Given the description of an element on the screen output the (x, y) to click on. 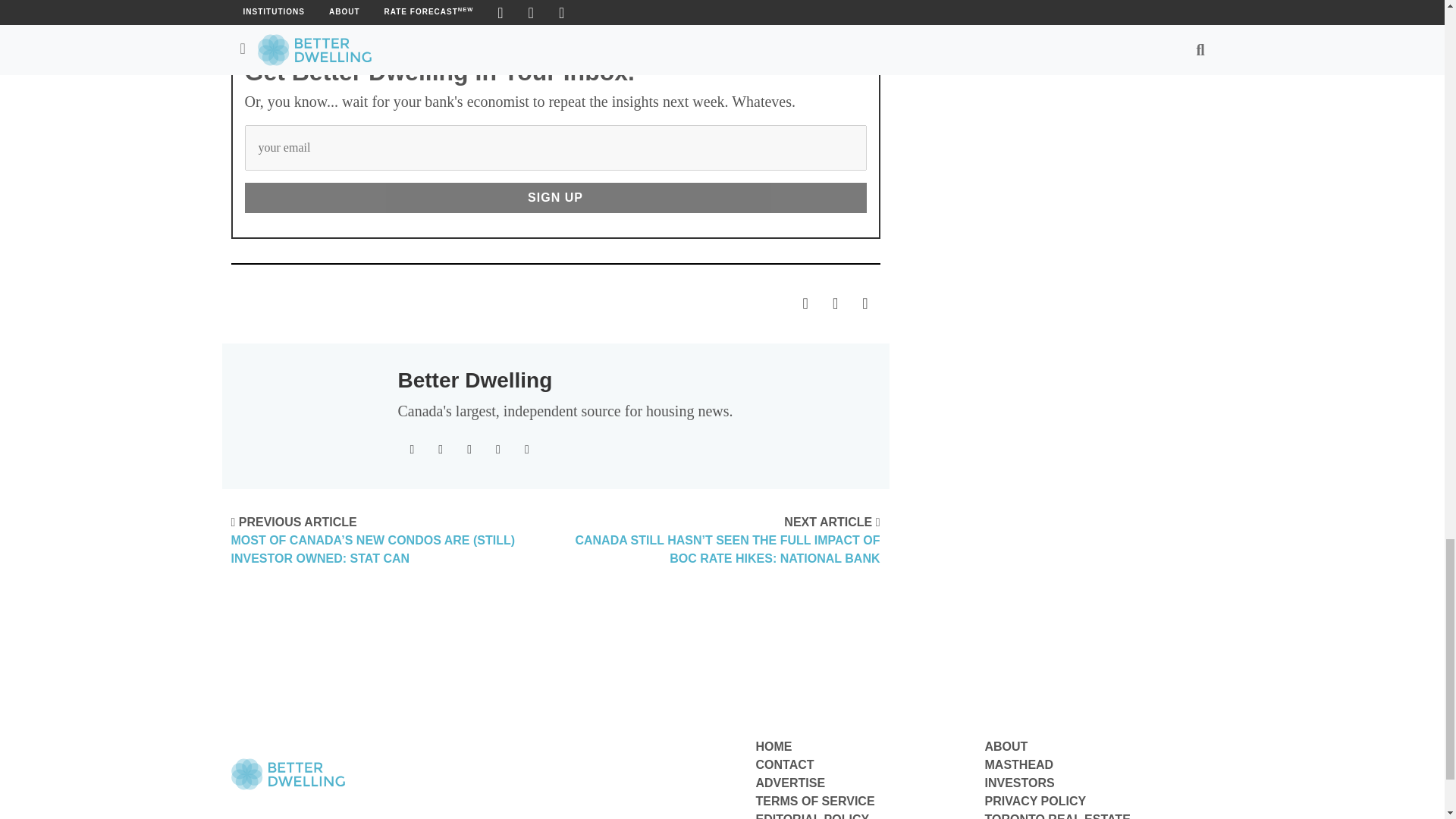
Contact Better Dwelling (784, 764)
Posts by Better Dwelling (474, 380)
SIGN UP (555, 197)
Better Dwelling (474, 380)
